Given the description of an element on the screen output the (x, y) to click on. 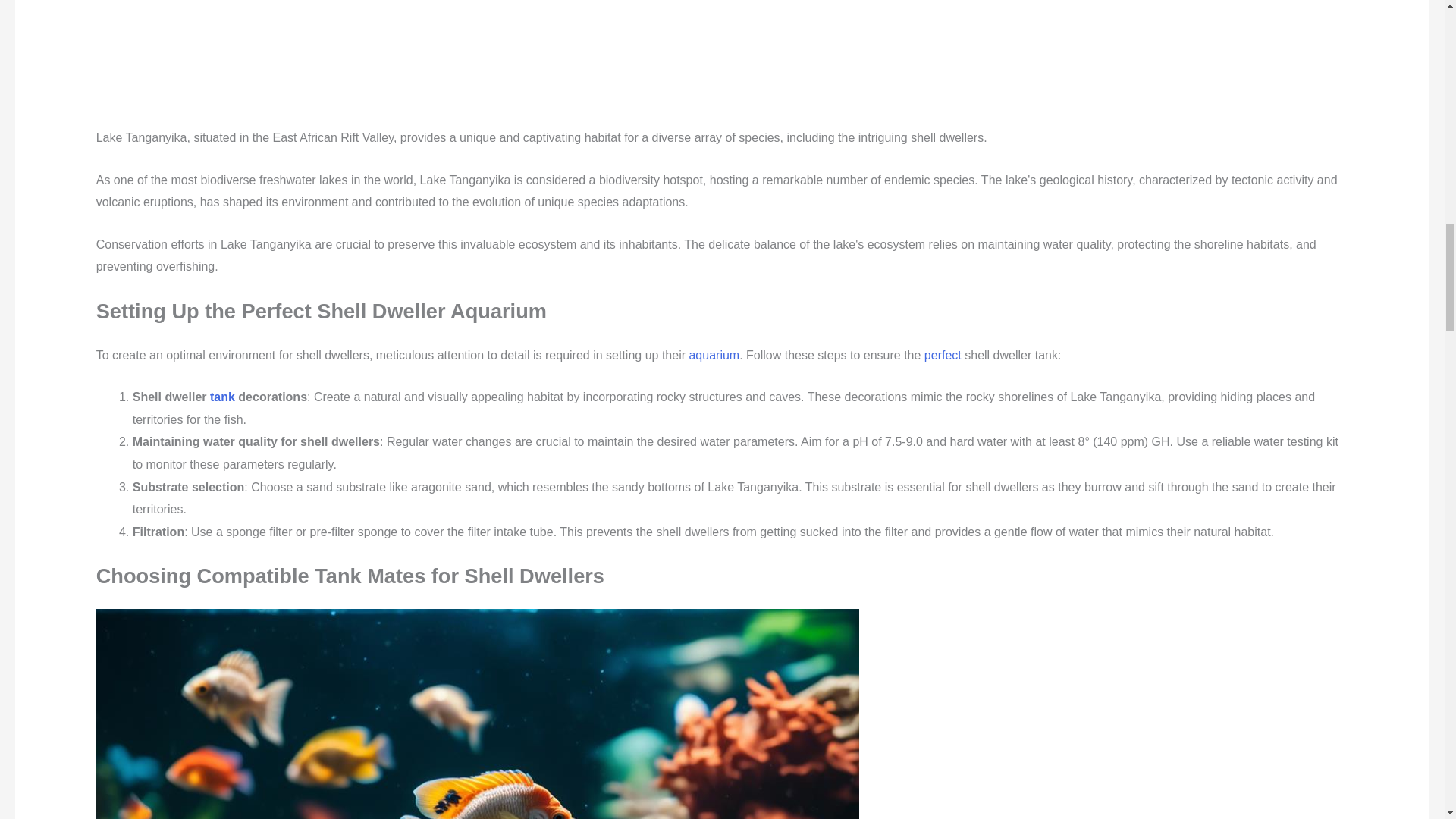
tank (221, 396)
perfect (942, 354)
tank (221, 396)
perfect (942, 354)
aquarium (713, 354)
aquarium (713, 354)
